Given the description of an element on the screen output the (x, y) to click on. 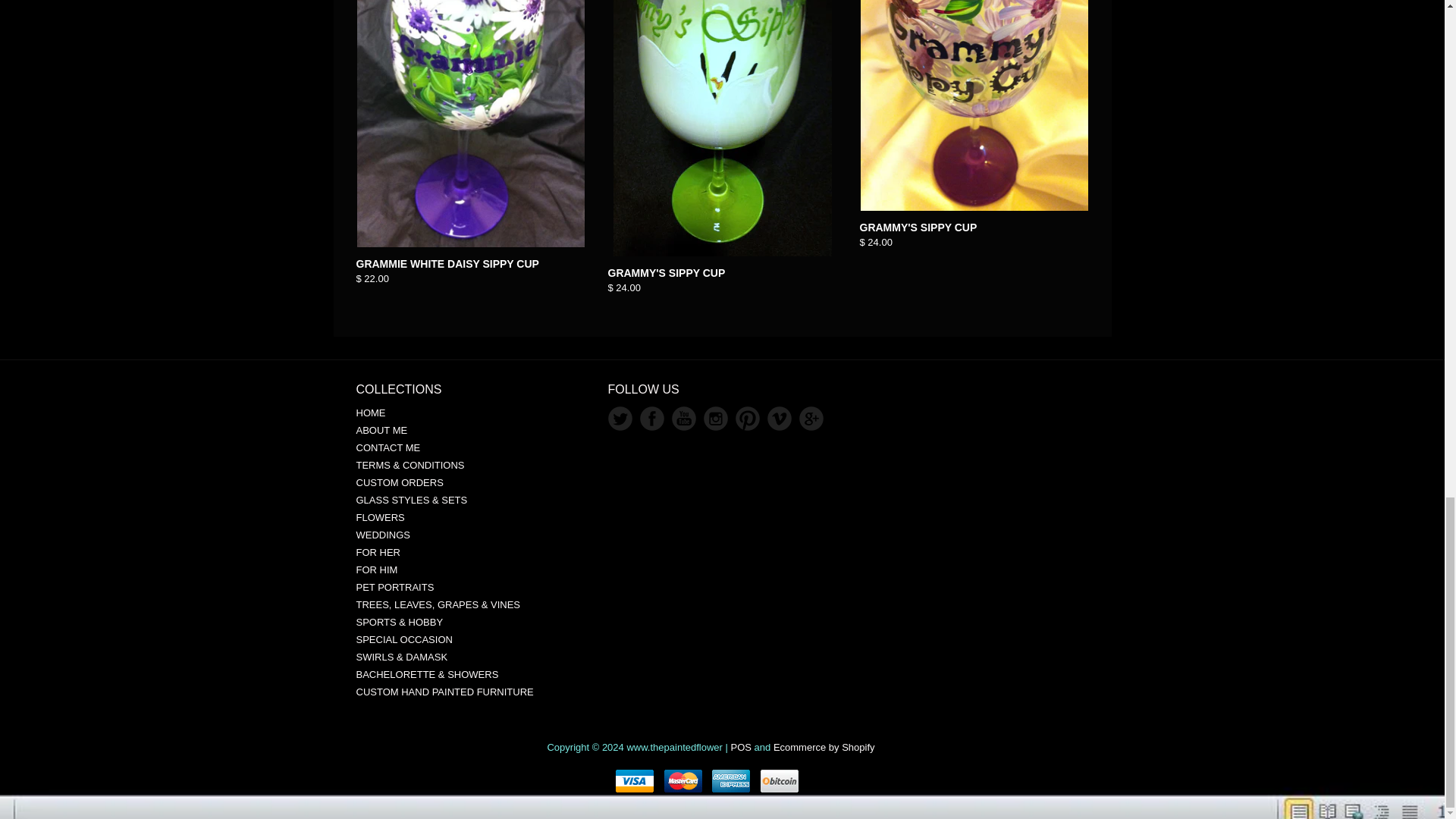
PET PORTRAITS (394, 586)
HOME (370, 412)
FOR HER (378, 552)
FOR HIM (376, 569)
WEDDINGS (383, 534)
ABOUT ME (381, 430)
CUSTOM ORDERS (400, 482)
CONTACT ME (388, 447)
FLOWERS (380, 517)
CUSTOM HAND PAINTED FURNITURE (445, 691)
SPECIAL OCCASION (404, 639)
